Given the description of an element on the screen output the (x, y) to click on. 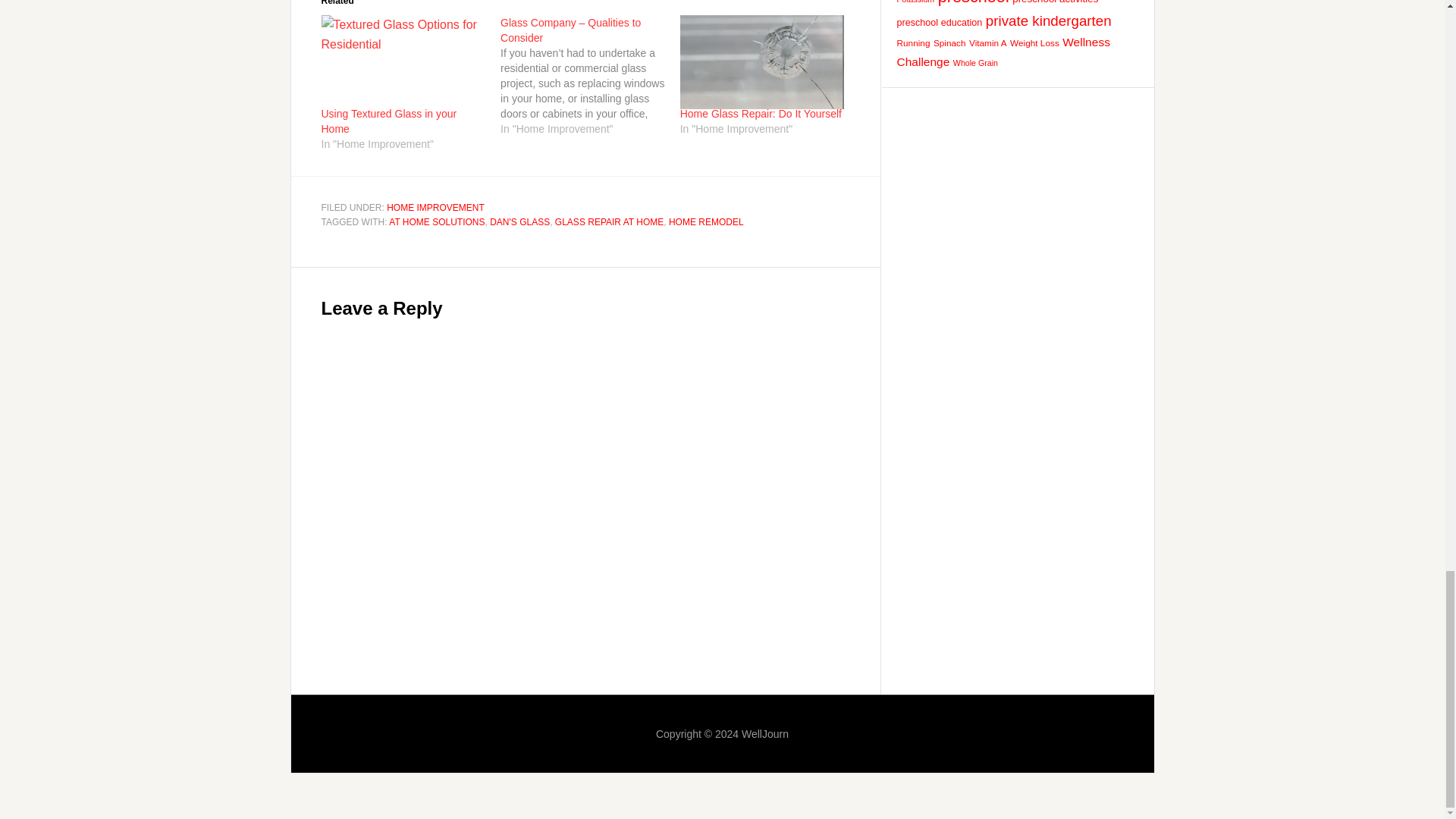
Using Textured Glass in your Home (389, 121)
Home Glass Repair: Do It Yourself (760, 113)
Using Textured Glass in your Home (389, 121)
DAN'S GLASS (519, 222)
HOME REMODEL (706, 222)
AT HOME SOLUTIONS (436, 222)
GLASS REPAIR AT HOME (608, 222)
Home Glass Repair: Do It Yourself (761, 61)
HOME IMPROVEMENT (435, 207)
Using Textured Glass in your Home (403, 61)
